Given the description of an element on the screen output the (x, y) to click on. 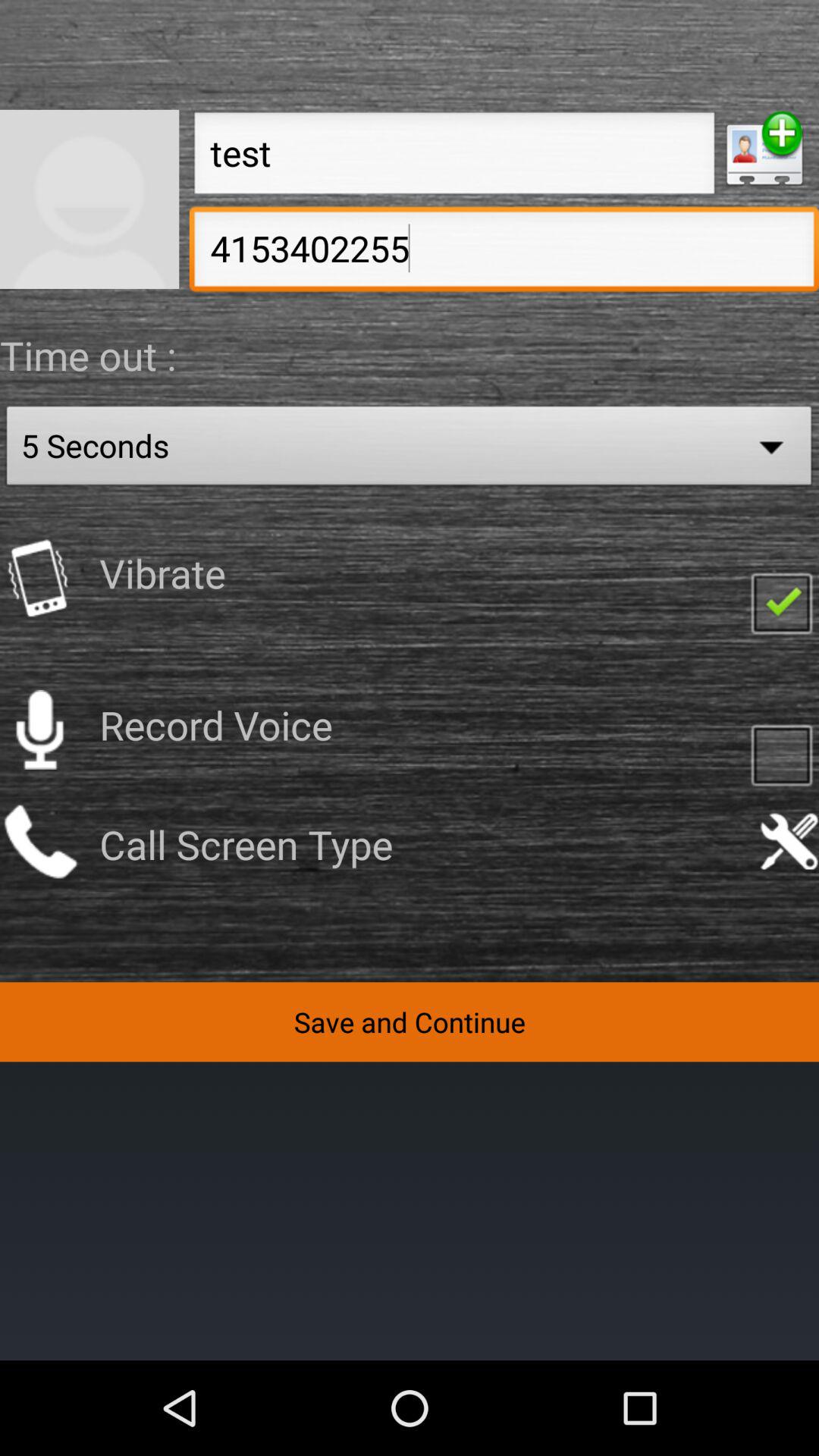
call button (39, 841)
